Given the description of an element on the screen output the (x, y) to click on. 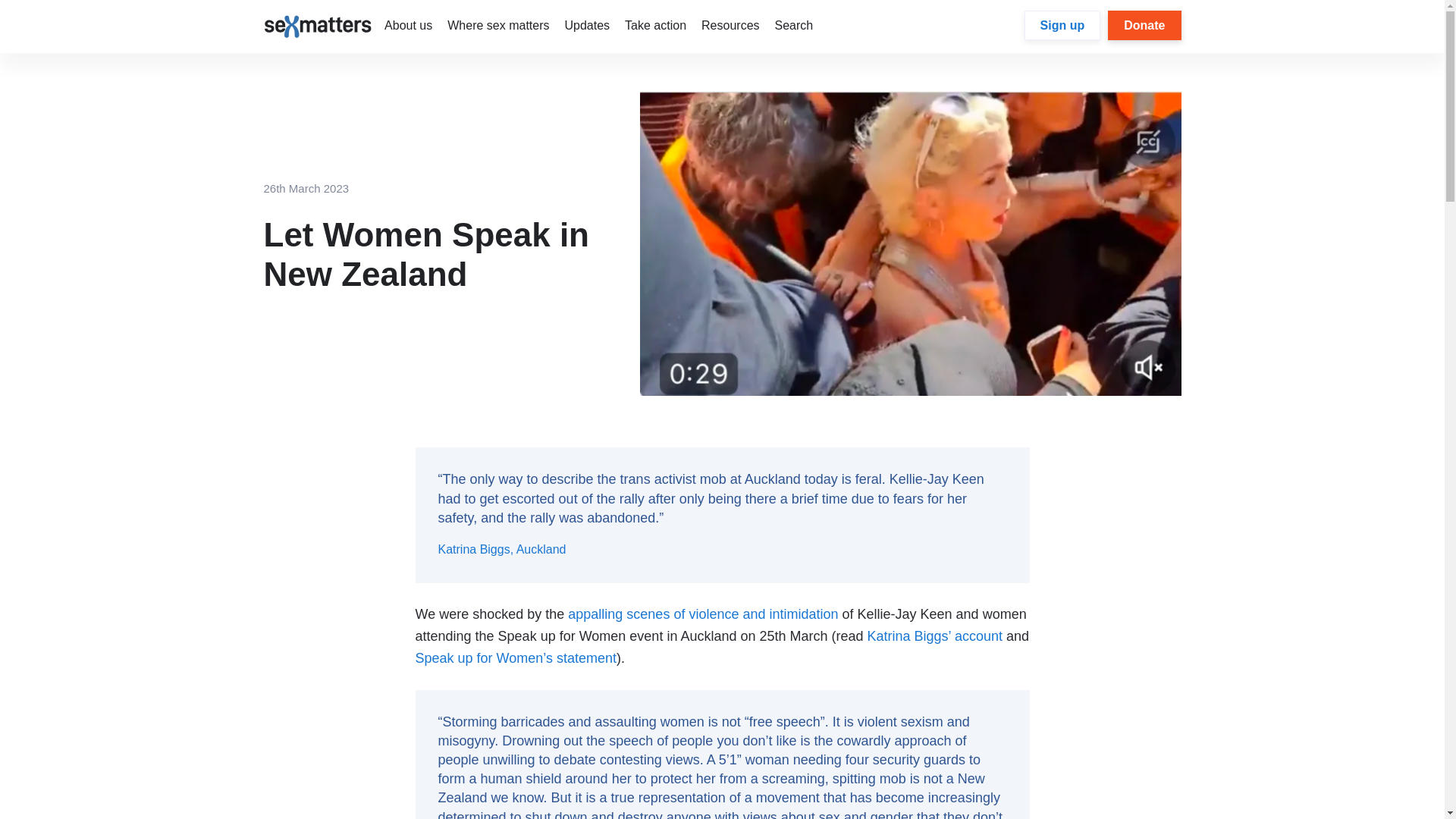
About us (408, 24)
Updates (587, 24)
Sign up (1062, 25)
Search (793, 24)
Resources (729, 24)
Take action (654, 24)
Donate (1144, 25)
Where sex matters (497, 24)
